Given the description of an element on the screen output the (x, y) to click on. 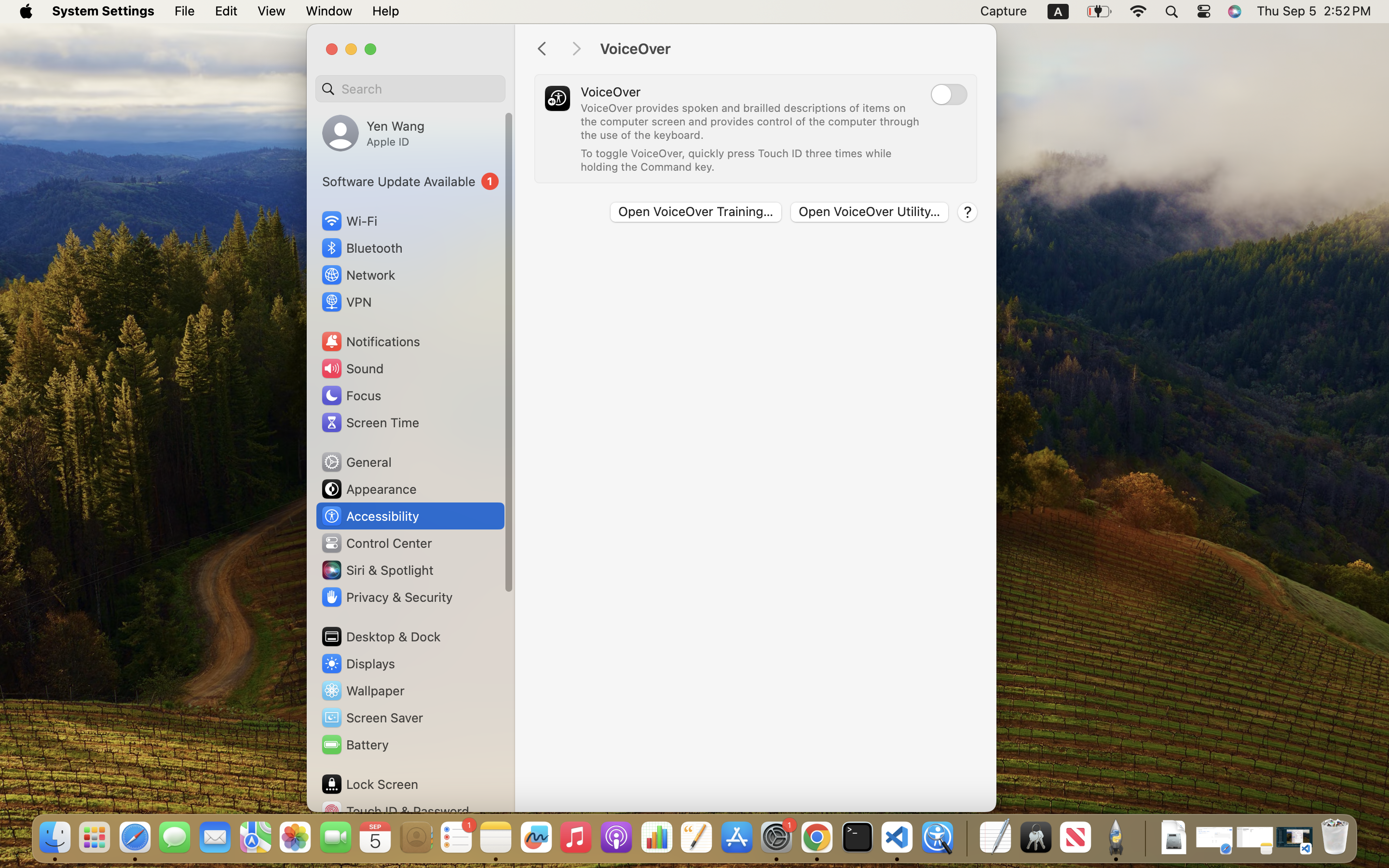
Focus Element type: AXStaticText (350, 394)
Screen Time Element type: AXStaticText (369, 422)
Wallpaper Element type: AXStaticText (362, 690)
To toggle VoiceOver, quickly press Touch ID three times while holding the Command key. Element type: AXStaticText (737, 159)
Bluetooth Element type: AXStaticText (361, 247)
